Given the description of an element on the screen output the (x, y) to click on. 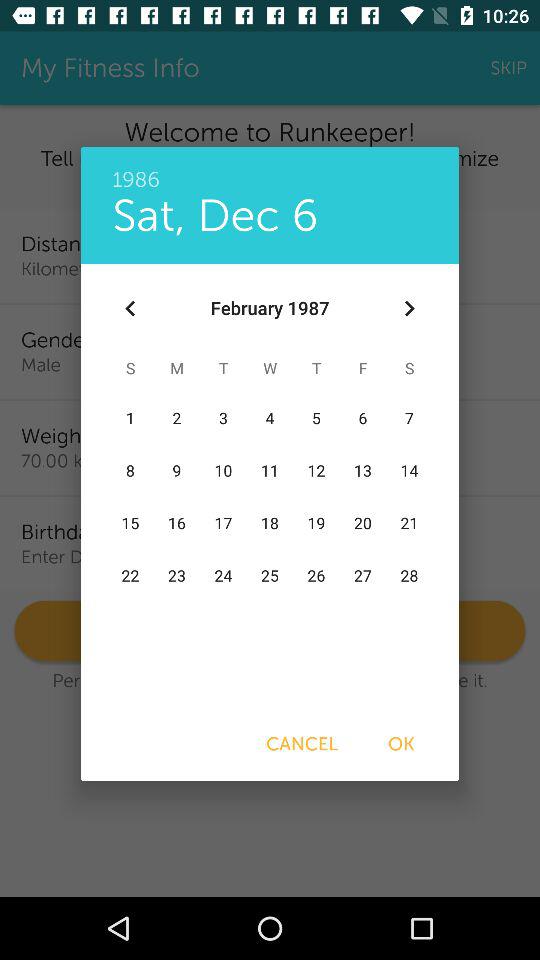
launch icon next to the ok icon (301, 743)
